Given the description of an element on the screen output the (x, y) to click on. 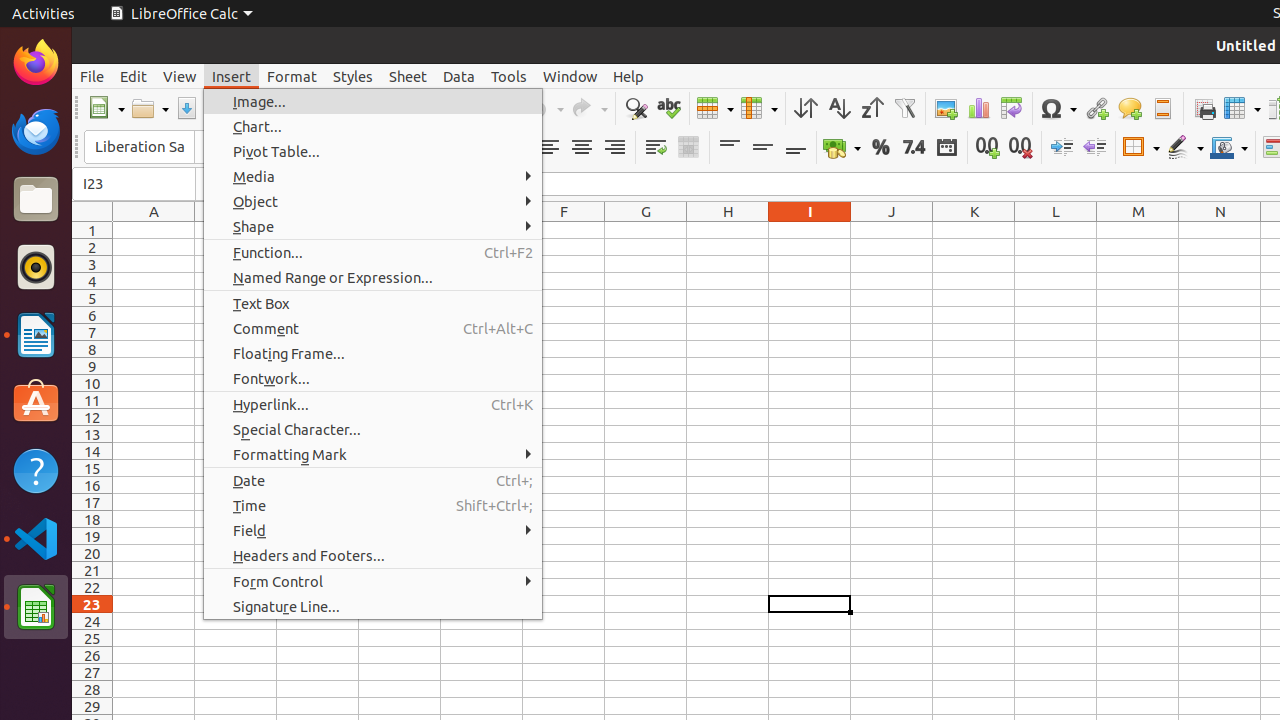
I1 Element type: table-cell (810, 230)
Pivot Table... Element type: menu-item (373, 151)
Apply Style Element type: text (73, 129)
Function... Element type: menu-item (373, 252)
IsaHelpMain.desktop Element type: label (133, 300)
